Given the description of an element on the screen output the (x, y) to click on. 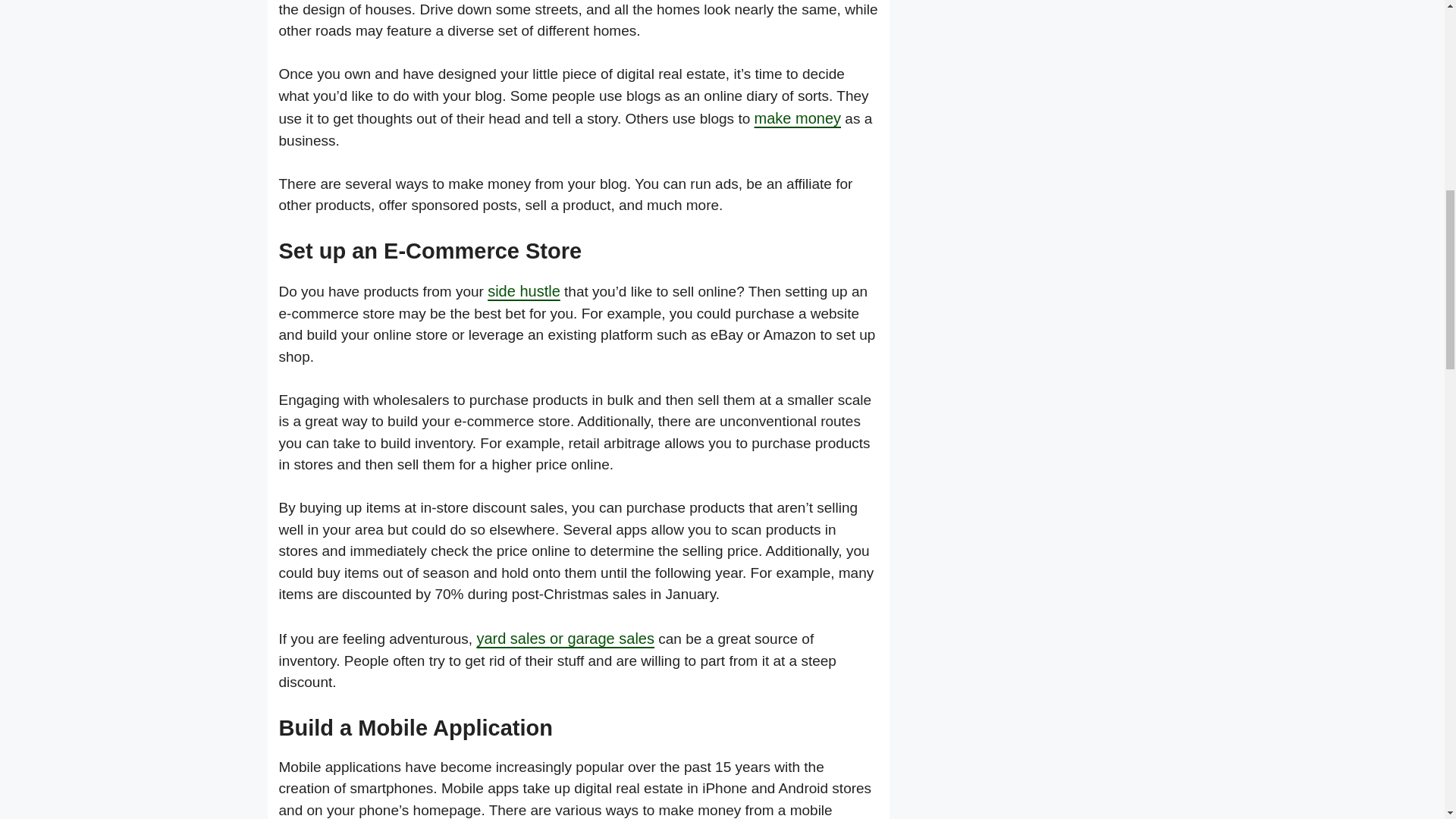
make money (797, 117)
side hustle (523, 290)
yard sales or garage sales (564, 638)
